Given the description of an element on the screen output the (x, y) to click on. 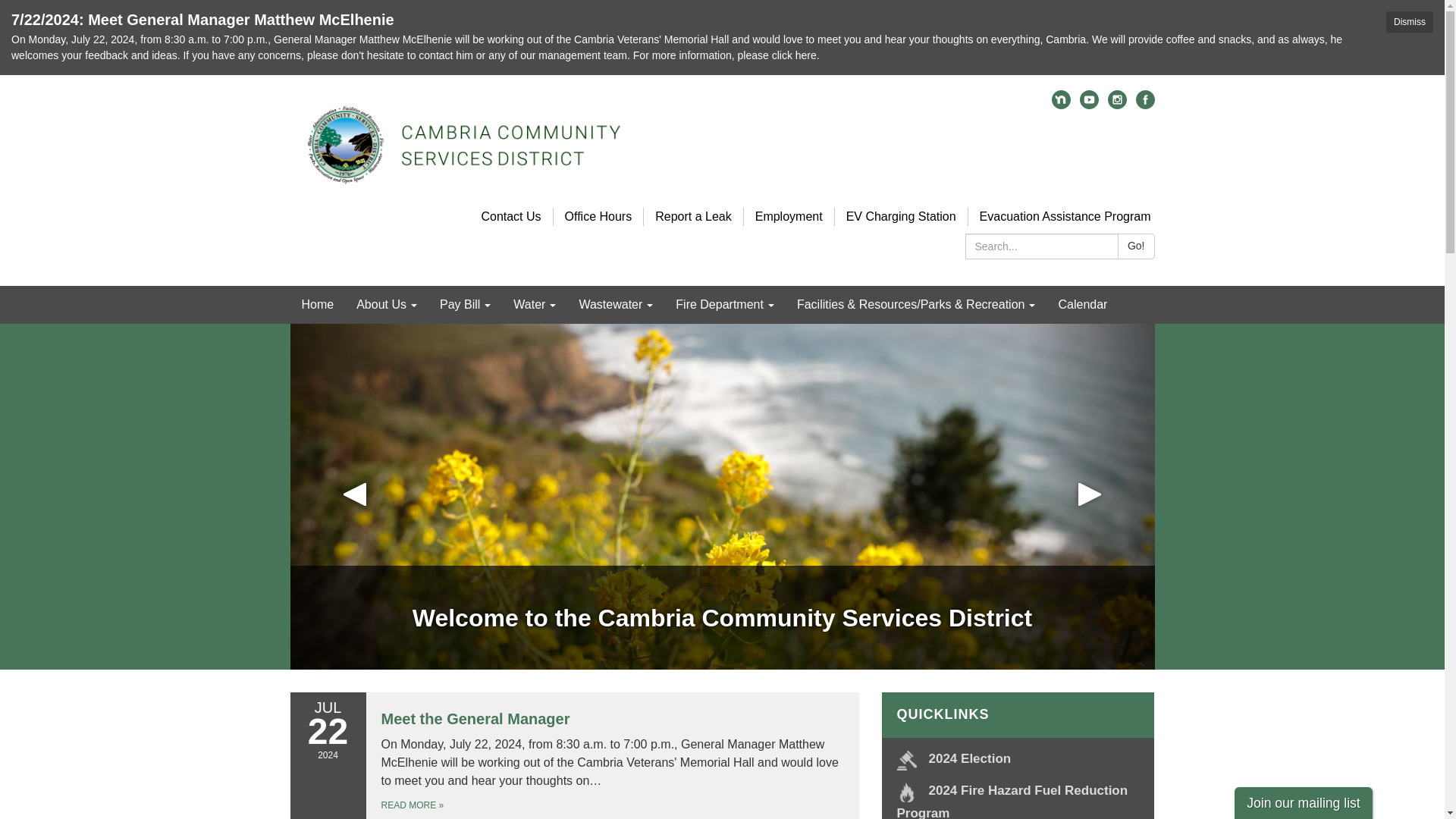
Go! (1136, 246)
EV Charging Station (901, 215)
Contact Us (509, 215)
Evacuation Assistance Program (1064, 215)
Dismiss (1409, 21)
Office Hours (598, 215)
About Us (386, 304)
Employment (789, 215)
Home (317, 304)
Report a Leak (692, 215)
